Given the description of an element on the screen output the (x, y) to click on. 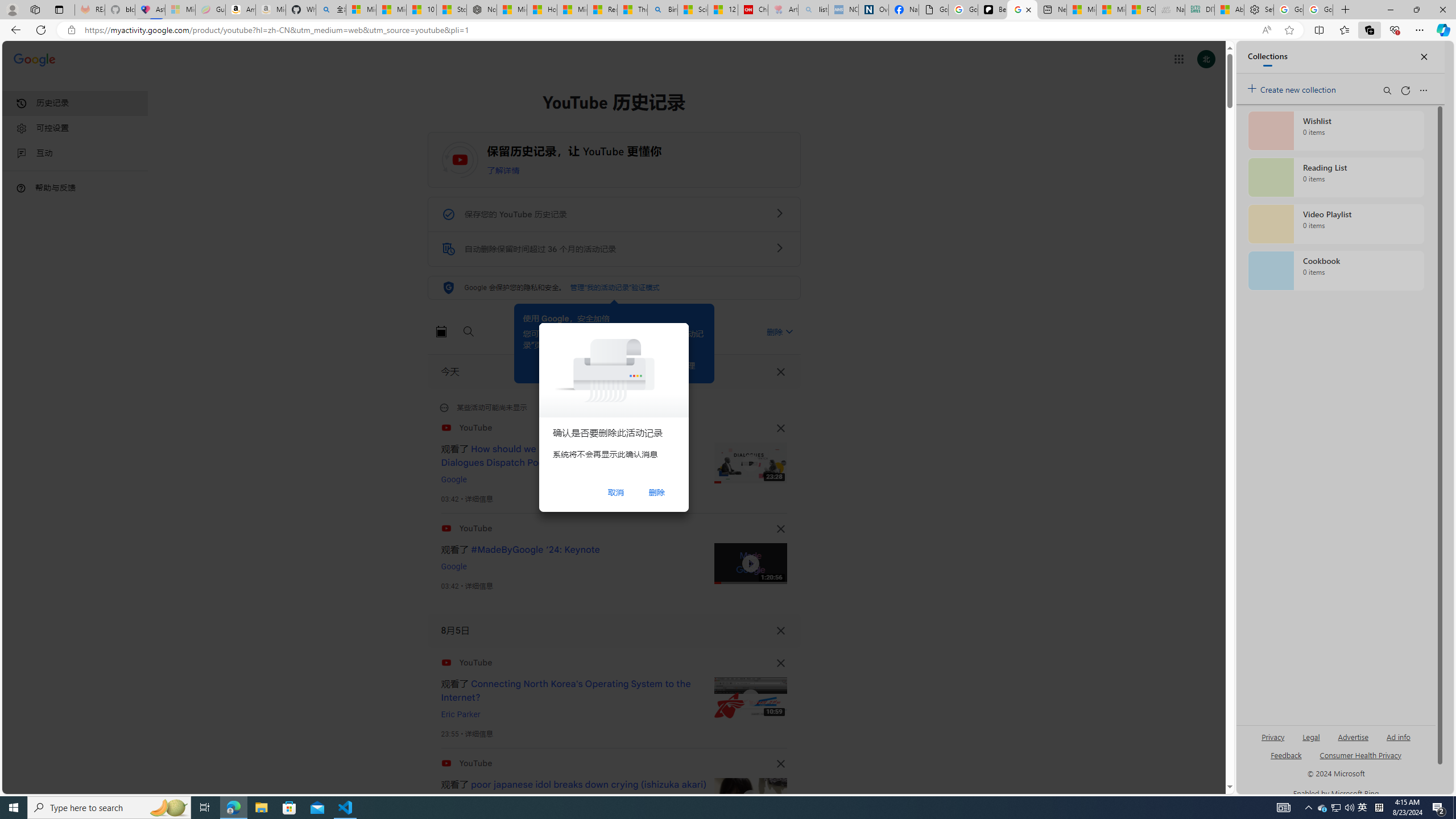
Microsoft-Report a Concern to Bing - Sleeping (180, 9)
How I Got Rid of Microsoft Edge's Unnecessary Features (542, 9)
FOX News - MSN (1140, 9)
Google Analytics Opt-out Browser Add-on Download Page (933, 9)
12 Popular Science Lies that Must be Corrected (722, 9)
